Given the description of an element on the screen output the (x, y) to click on. 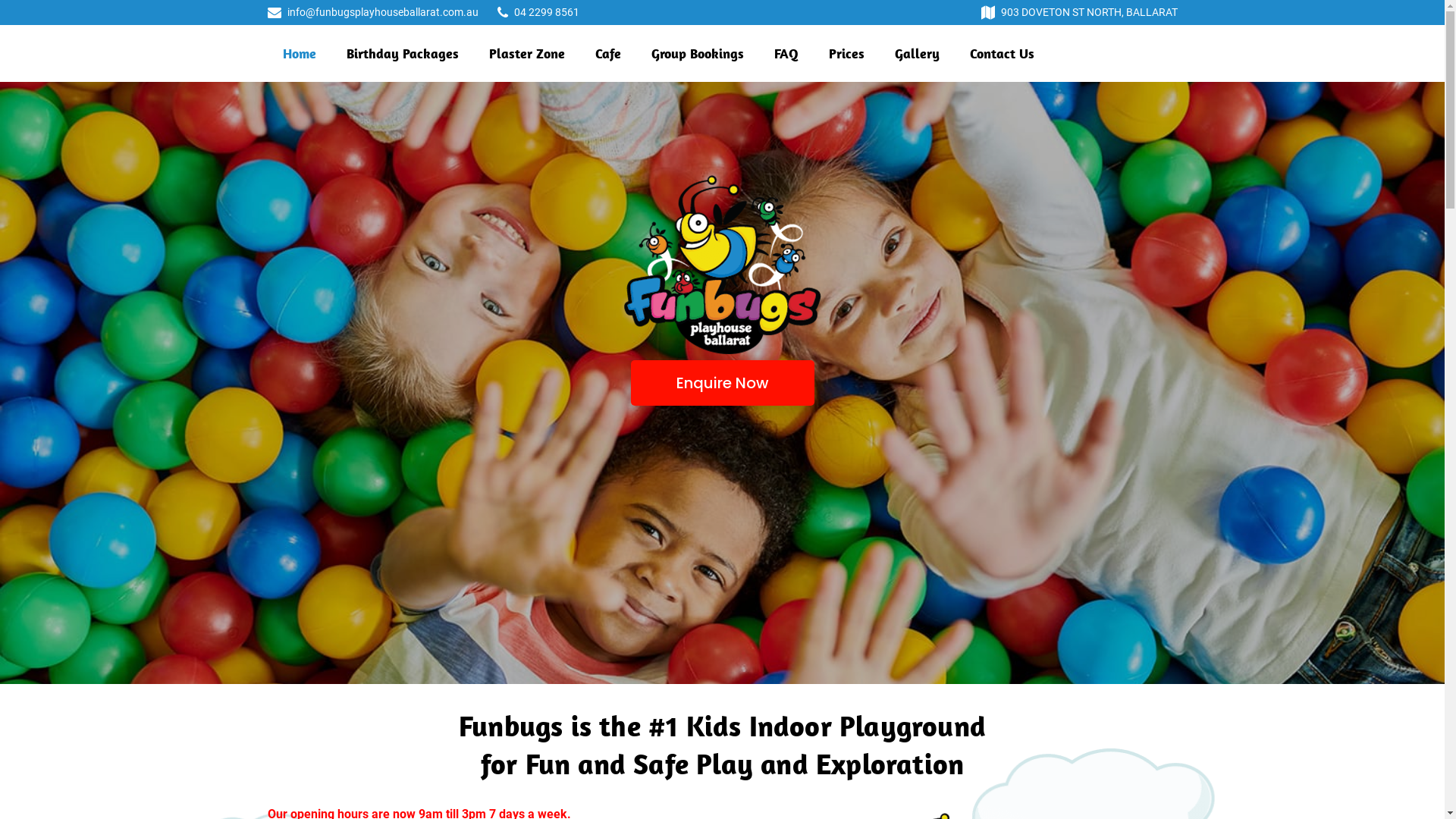
Cafe Element type: text (607, 53)
Birthday Packages Element type: text (401, 53)
Gallery Element type: text (916, 53)
Home Element type: text (298, 53)
FAQ Element type: text (785, 53)
Contact Us Element type: text (1000, 53)
Plaster Zone Element type: text (526, 53)
Group Bookings Element type: text (696, 53)
info@funbugsplayhouseballarat.com.au Element type: text (381, 12)
Prices Element type: text (845, 53)
Enquire Now Element type: text (722, 382)
